Given the description of an element on the screen output the (x, y) to click on. 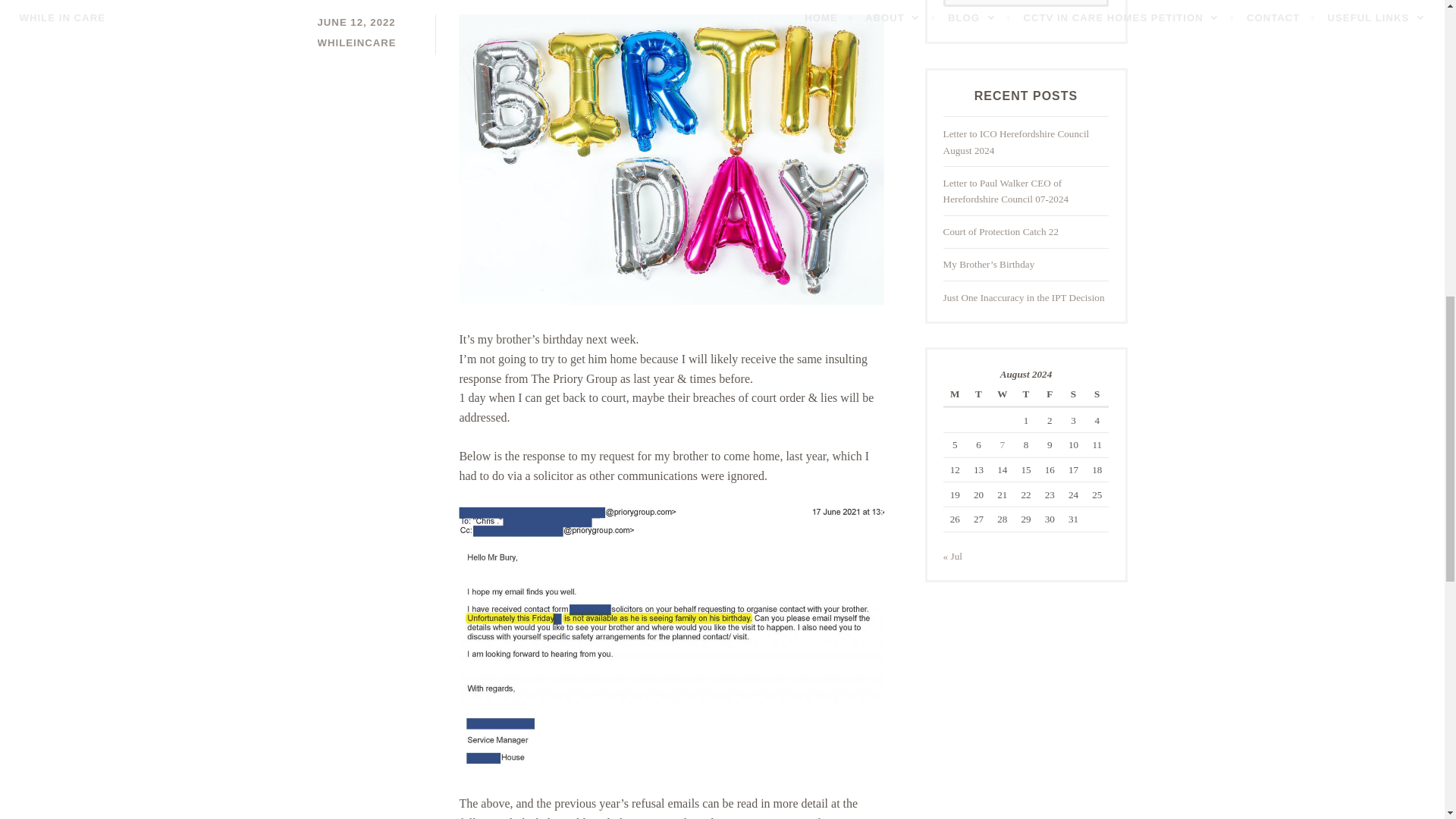
Thursday (1024, 394)
WHILEINCARE (356, 42)
Friday (1049, 394)
Wednesday (1001, 394)
JUNE 12, 2022 (355, 21)
Letter to Paul Walker CEO of Herefordshire Council 07-2024 (1005, 190)
Sunday (1096, 394)
Saturday (1072, 394)
Monday (954, 394)
Tuesday (978, 394)
